Given the description of an element on the screen output the (x, y) to click on. 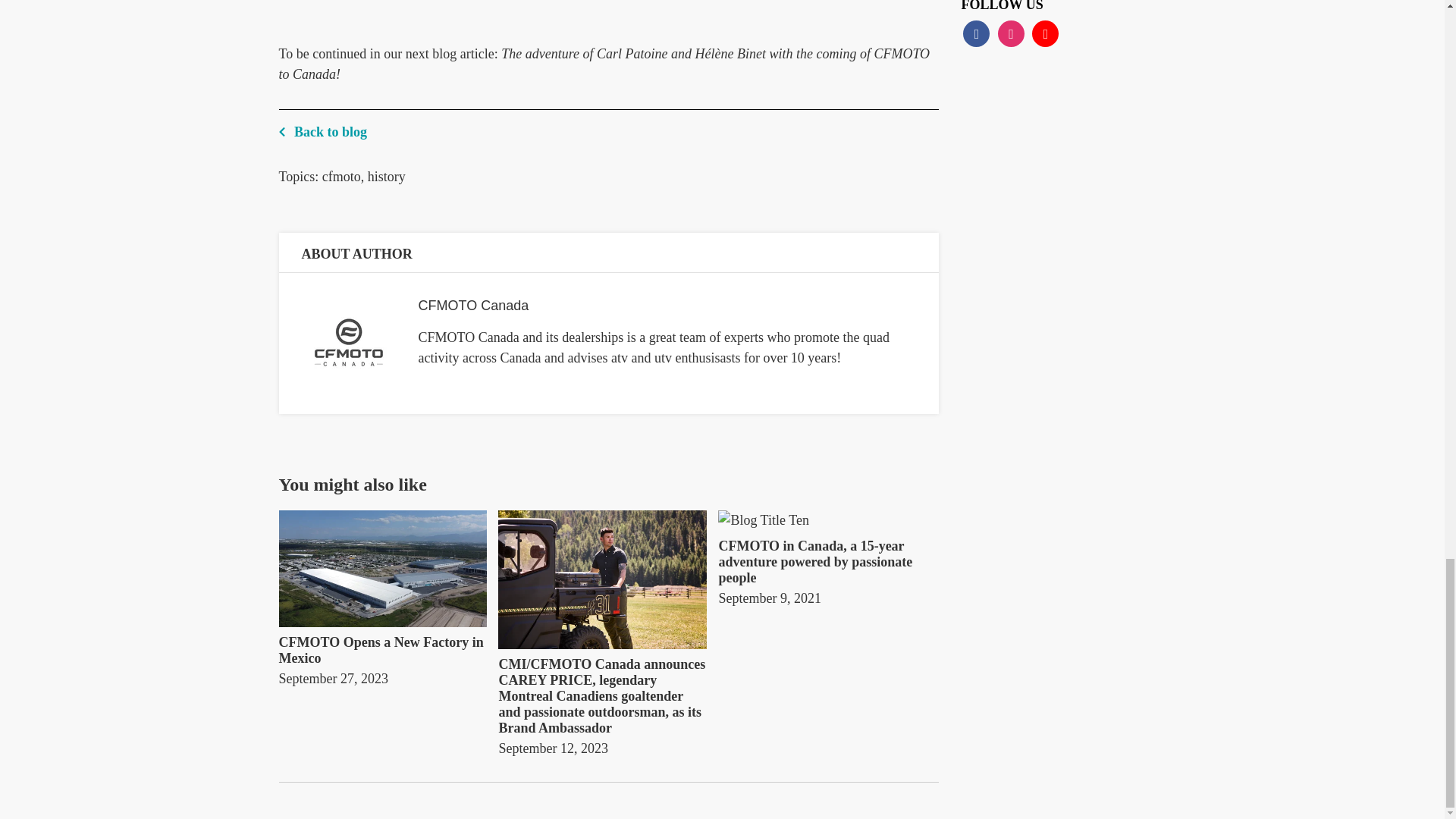
cfmoto (341, 176)
CFMOTO Opens a New Factory in Mexico (383, 650)
Back to blog (609, 125)
history (387, 176)
